Given the description of an element on the screen output the (x, y) to click on. 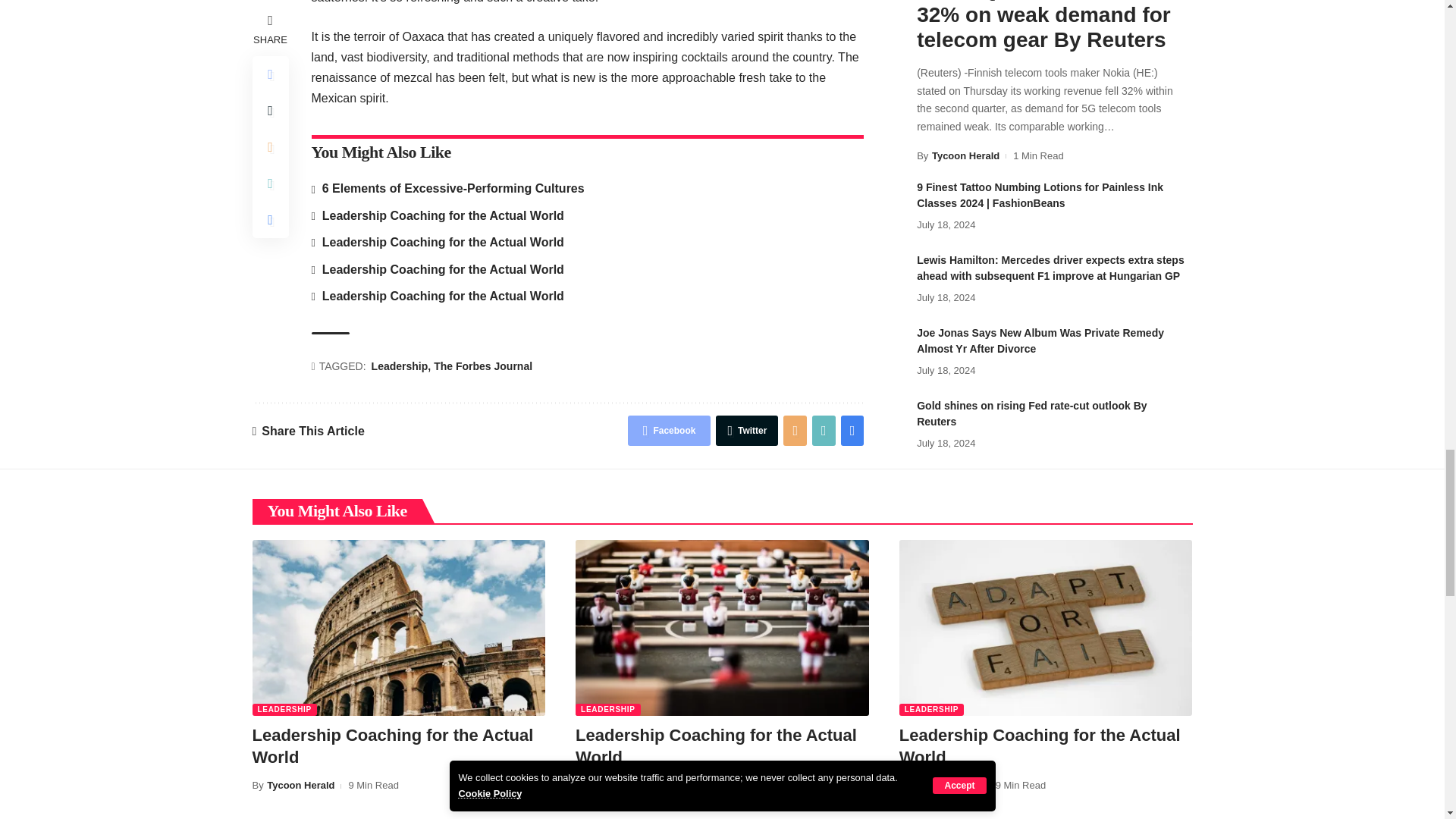
Leadership Coaching for the Actual World (397, 627)
Leadership Coaching for the Actual World (722, 627)
Leadership Coaching for the Actual World (1045, 627)
